Given the description of an element on the screen output the (x, y) to click on. 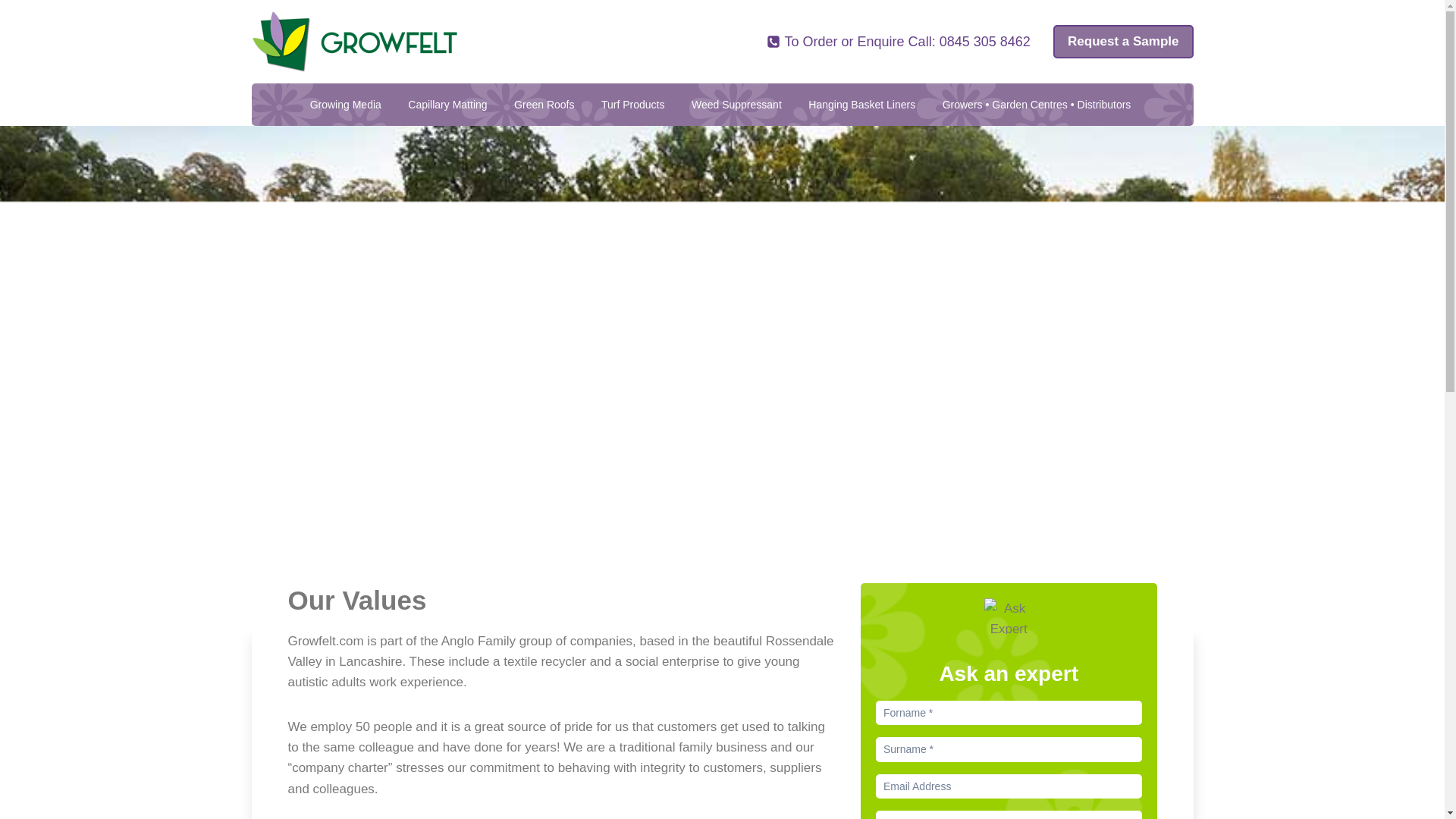
Green Roofs (544, 103)
To Order or Enquire Call: 0845 305 8462 (898, 41)
Turf Products (633, 103)
Hanging Basket Liners (861, 103)
Growing Media (345, 103)
Request a Sample (1122, 41)
Weed Suppressant (736, 103)
Capillary Matting (447, 103)
